Given the description of an element on the screen output the (x, y) to click on. 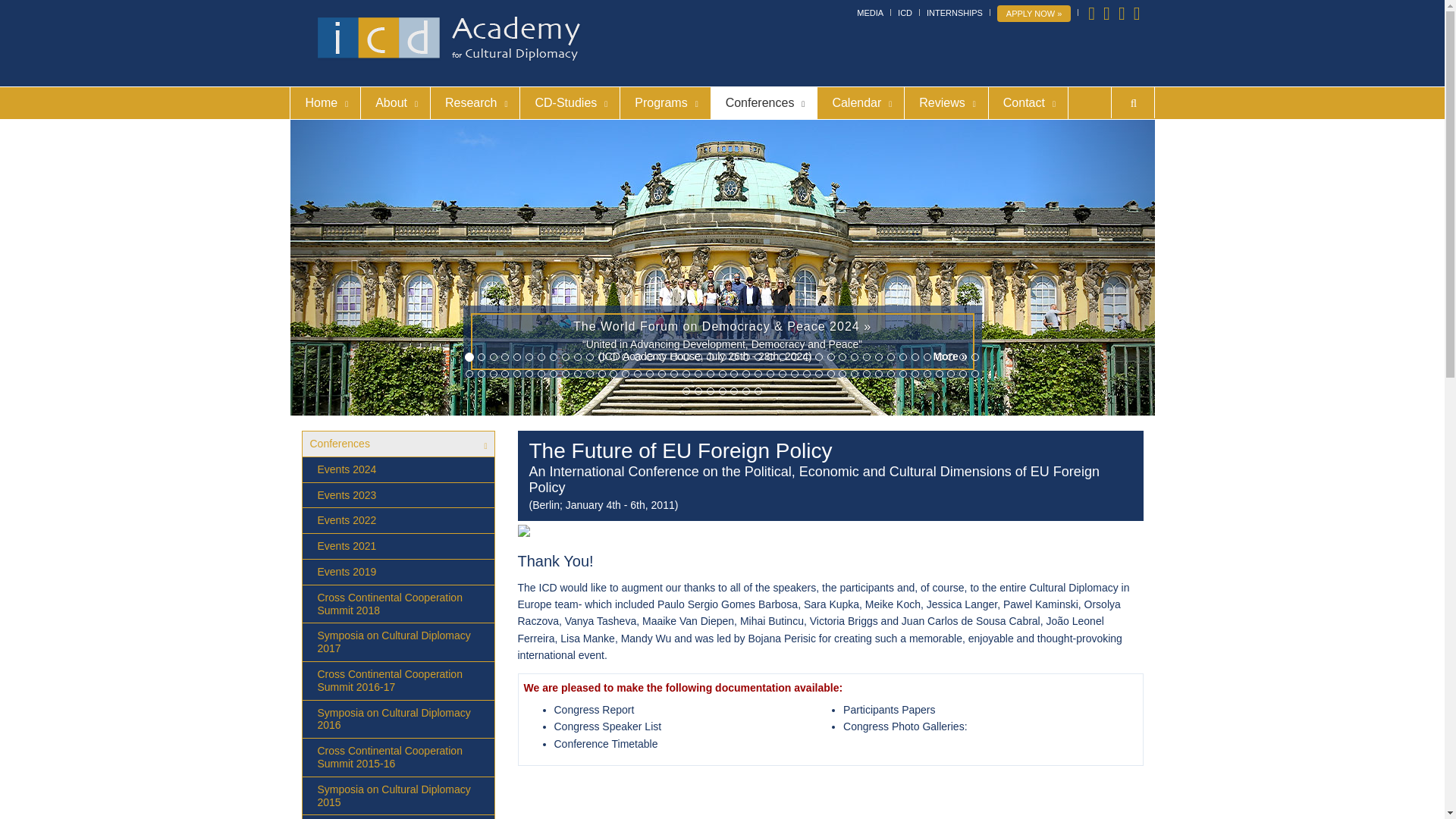
Home (324, 102)
Events 2024 (397, 470)
Programs (665, 102)
Cross Continental Cooperation Summit 2016-17 (397, 681)
Calendar (860, 102)
Contact (1027, 102)
Events 2023 (397, 495)
CD-Studies (569, 102)
Conferences (397, 444)
Cross Continental Cooperation Summit 2018 (397, 604)
Symposia on Cultural Diplomacy 2017 (397, 642)
Conferences (763, 102)
Reviews (945, 102)
INTERNSHIPS (954, 12)
About (394, 102)
